Given the description of an element on the screen output the (x, y) to click on. 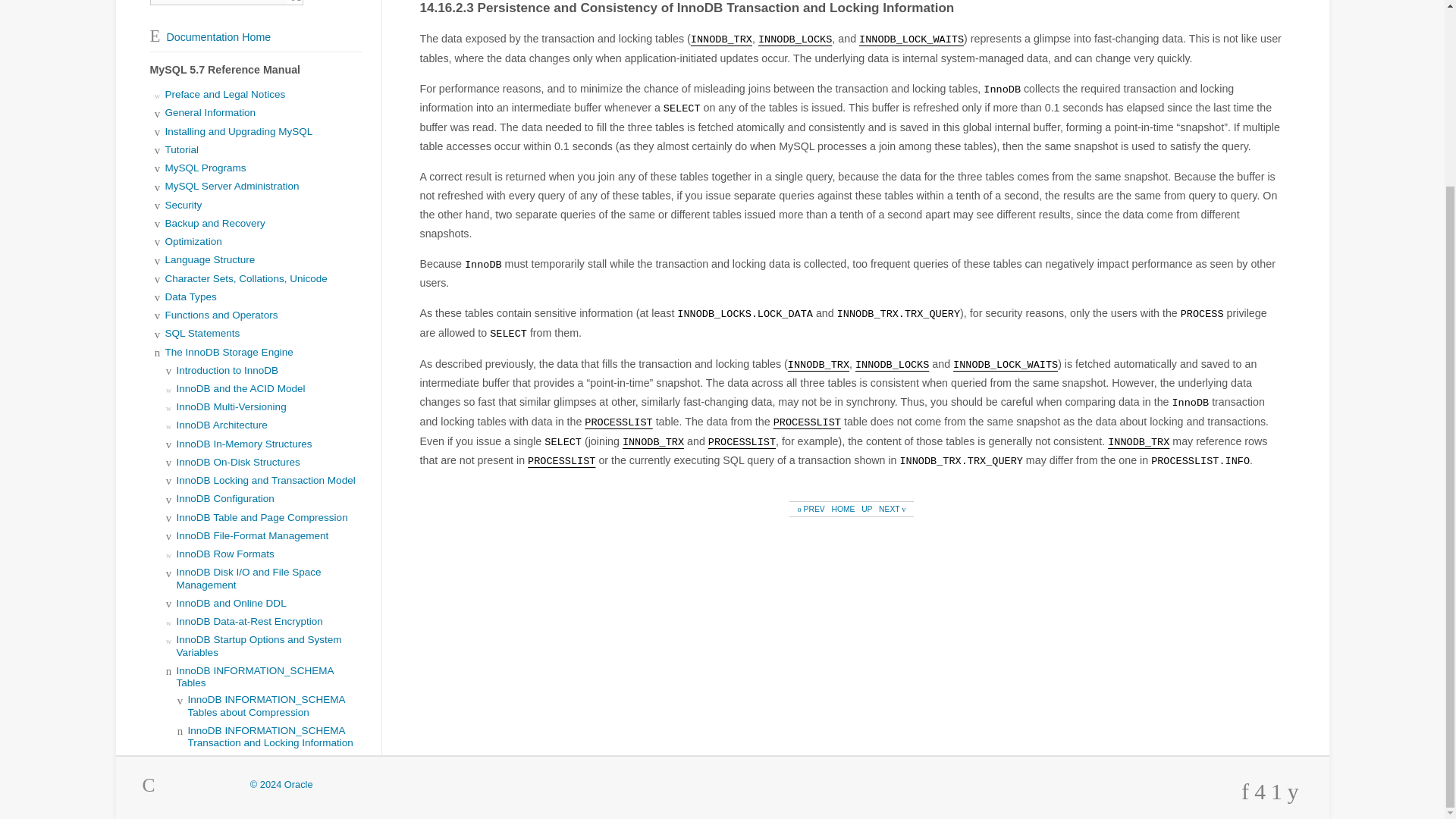
General Information (210, 112)
Installing and Upgrading MySQL (239, 131)
Search (295, 2)
Search this Manual (217, 2)
Documentation Home (209, 37)
Preface and Legal Notices (225, 93)
Search this Manual (217, 2)
